Given the description of an element on the screen output the (x, y) to click on. 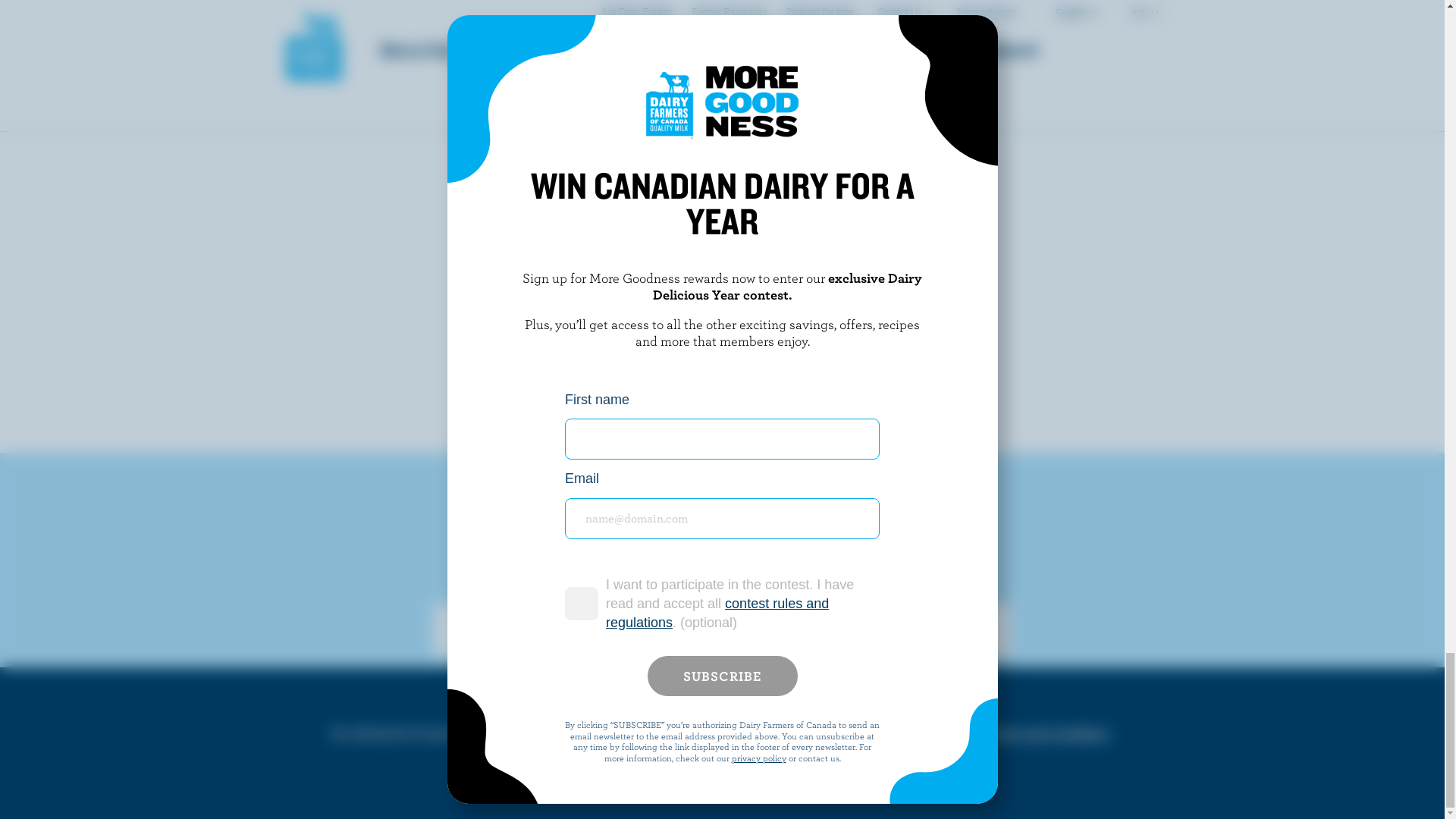
Subscribe (879, 280)
